Given the description of an element on the screen output the (x, y) to click on. 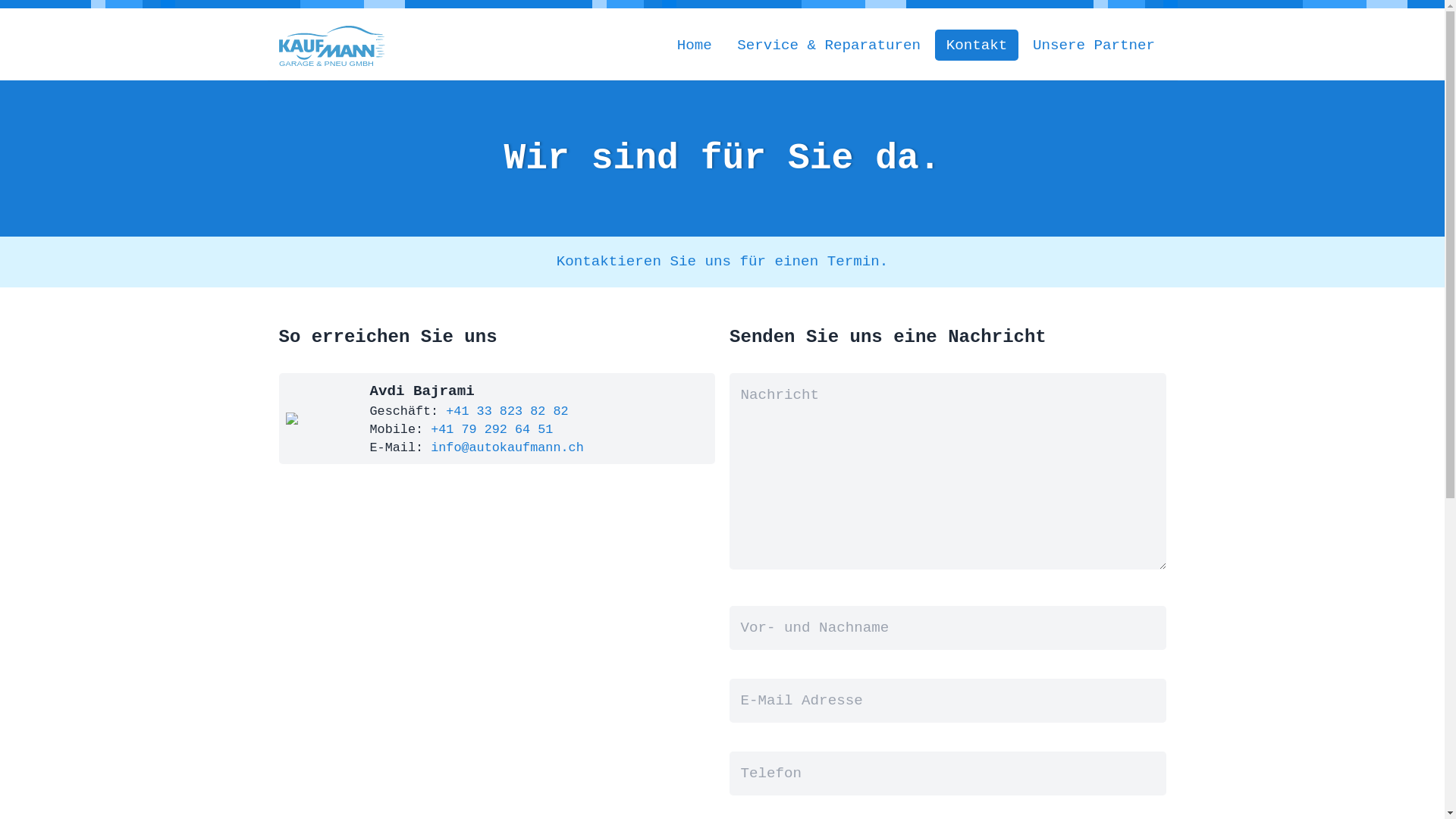
info@autokaufmann.ch Element type: text (506, 446)
Home Element type: text (693, 44)
Kontakt Element type: text (976, 44)
Service & Reparaturen Element type: text (828, 44)
+41 33 823 82 82 Element type: text (502, 410)
+41 79 292 64 51 Element type: text (491, 428)
Unsere Partner Element type: text (1094, 44)
